Given the description of an element on the screen output the (x, y) to click on. 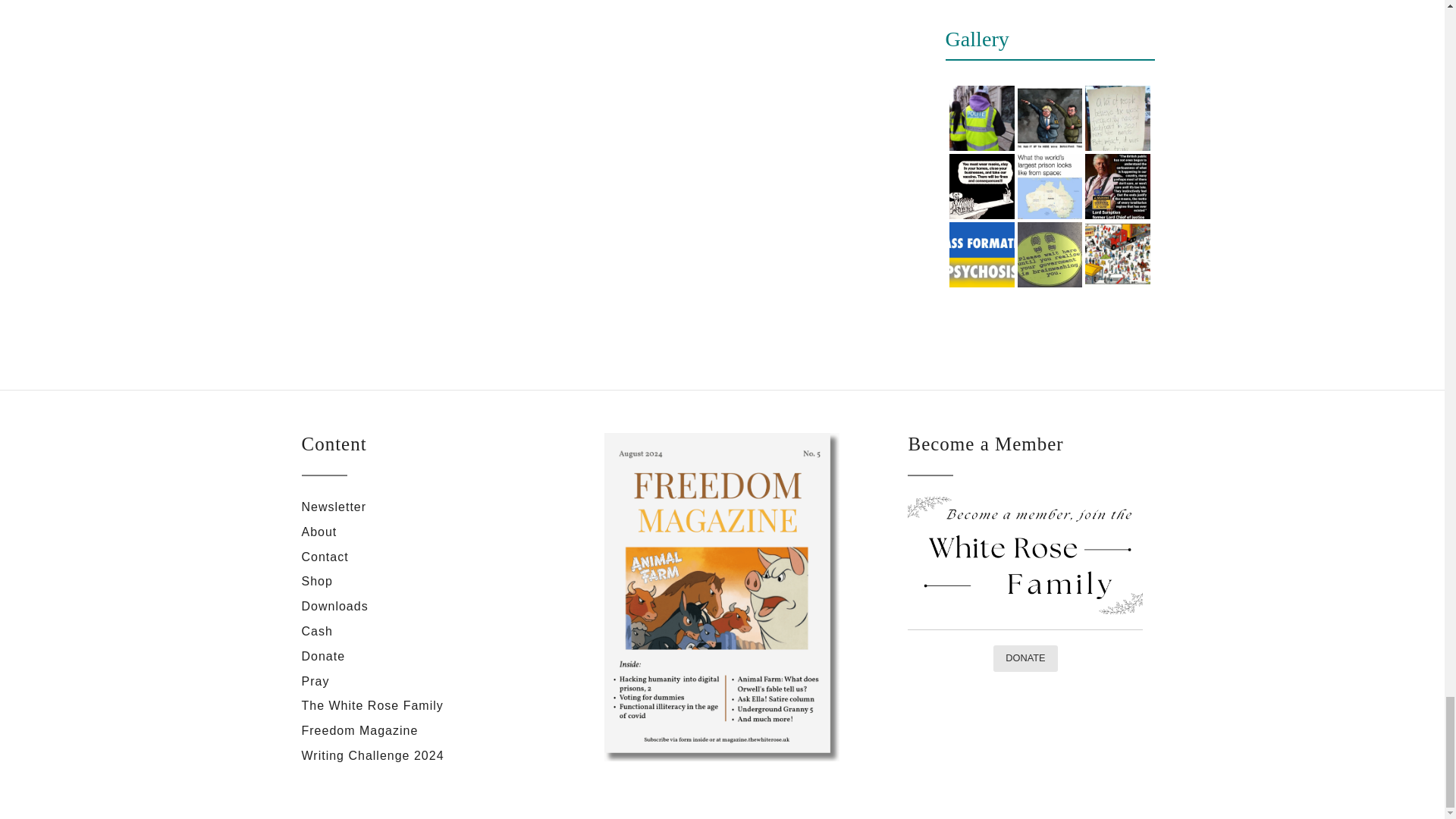
Mass Formation Psychosis (980, 254)
Lord Sumption (1117, 186)
The Plank (981, 186)
Prison Australia (1049, 186)
London 15 May 2021 (981, 117)
most-washed (1117, 117)
